Given the description of an element on the screen output the (x, y) to click on. 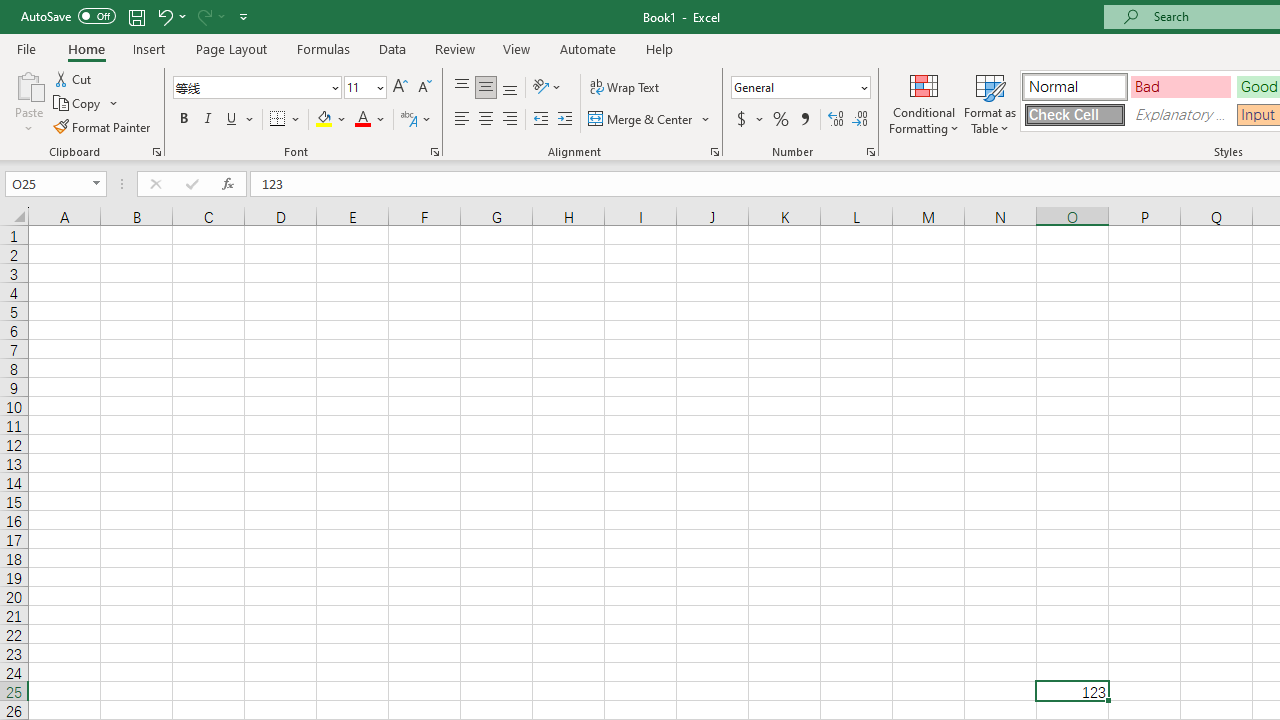
Format Cell Number (870, 151)
Bad (1180, 86)
Decrease Indent (540, 119)
Conditional Formatting (924, 102)
